Given the description of an element on the screen output the (x, y) to click on. 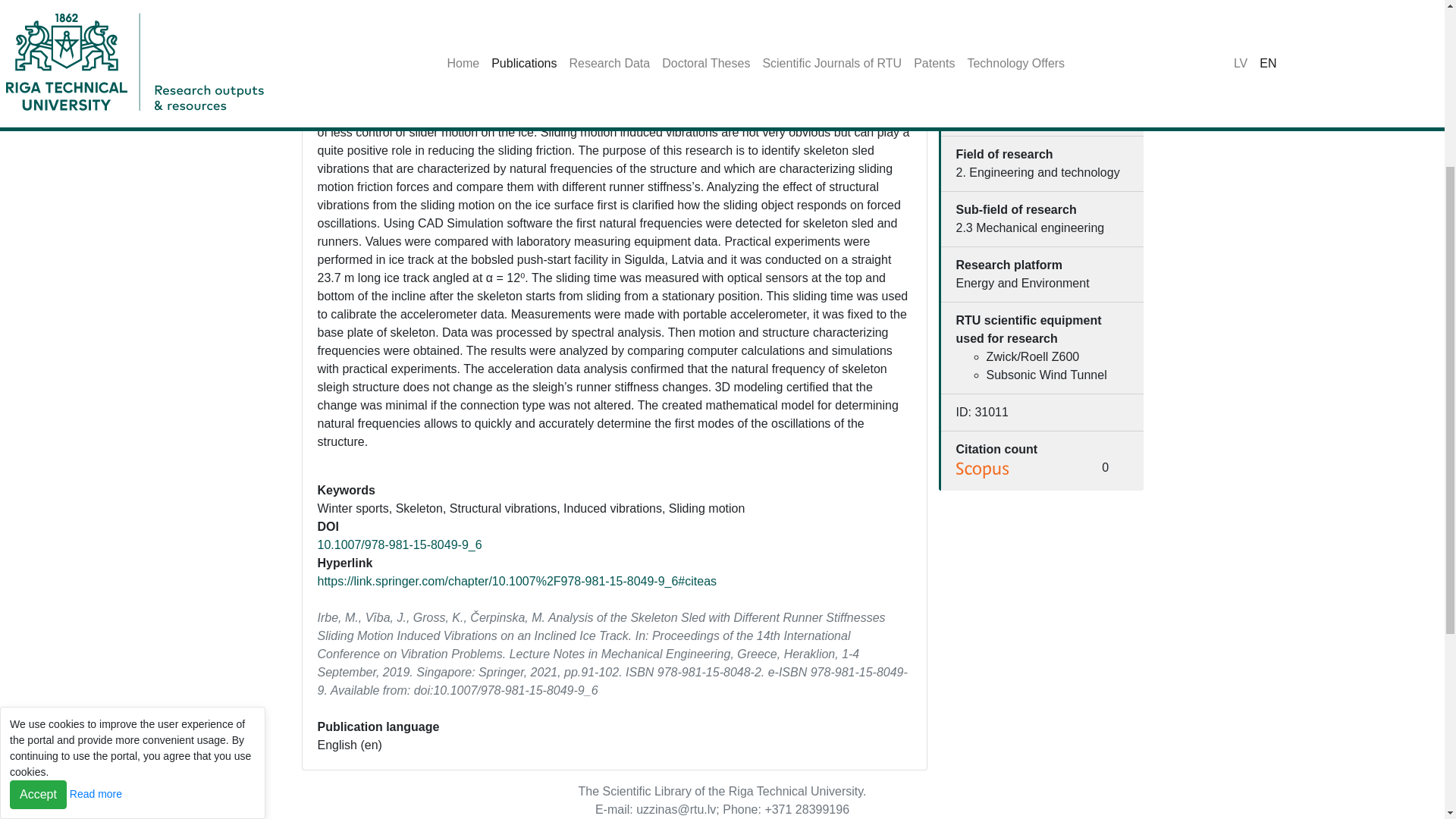
Scopus (982, 469)
Read more (95, 521)
